Given the description of an element on the screen output the (x, y) to click on. 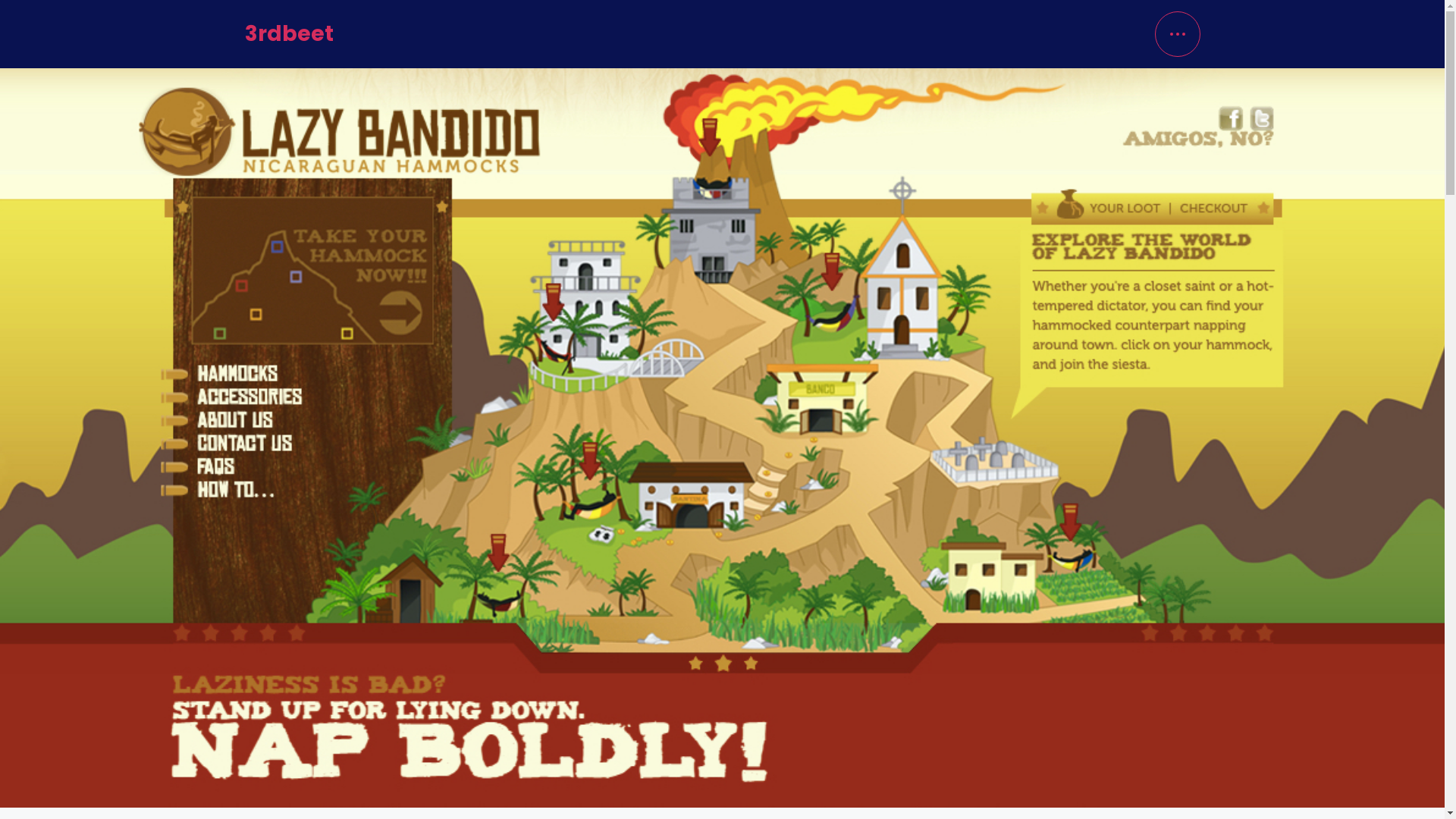
CONTACT Element type: text (1080, 282)
ABOUT Element type: text (1116, 216)
3rdbeet Element type: text (288, 34)
WORK Element type: text (1124, 150)
